Given the description of an element on the screen output the (x, y) to click on. 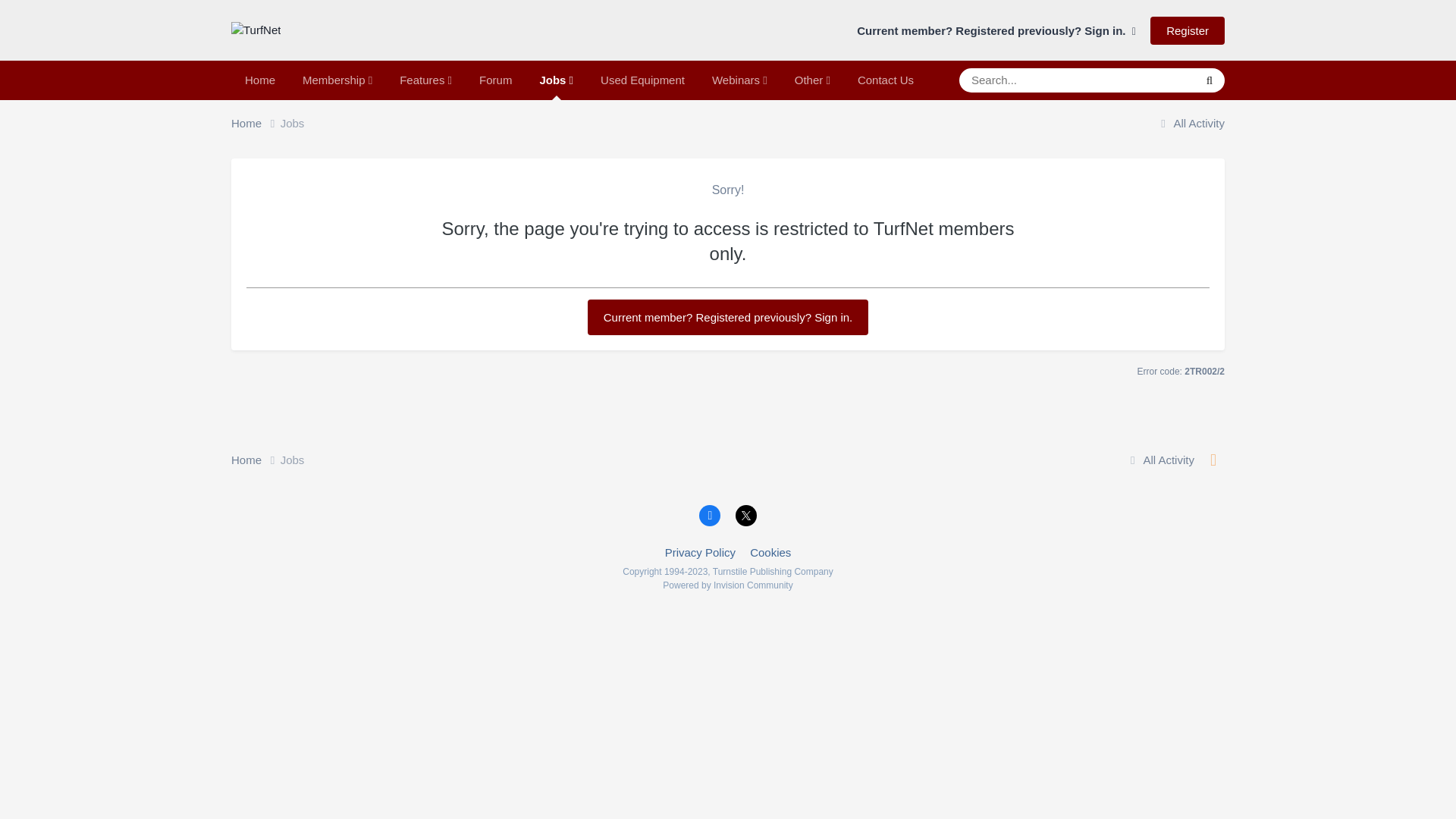
Other (812, 79)
Used Equipment (642, 79)
Current member? Registered previously? Sign in. (727, 316)
Register (1187, 30)
Forum (495, 79)
Home (256, 123)
Available RSS feeds (1213, 459)
Jobs (555, 79)
Membership (336, 79)
Features (425, 79)
